Given the description of an element on the screen output the (x, y) to click on. 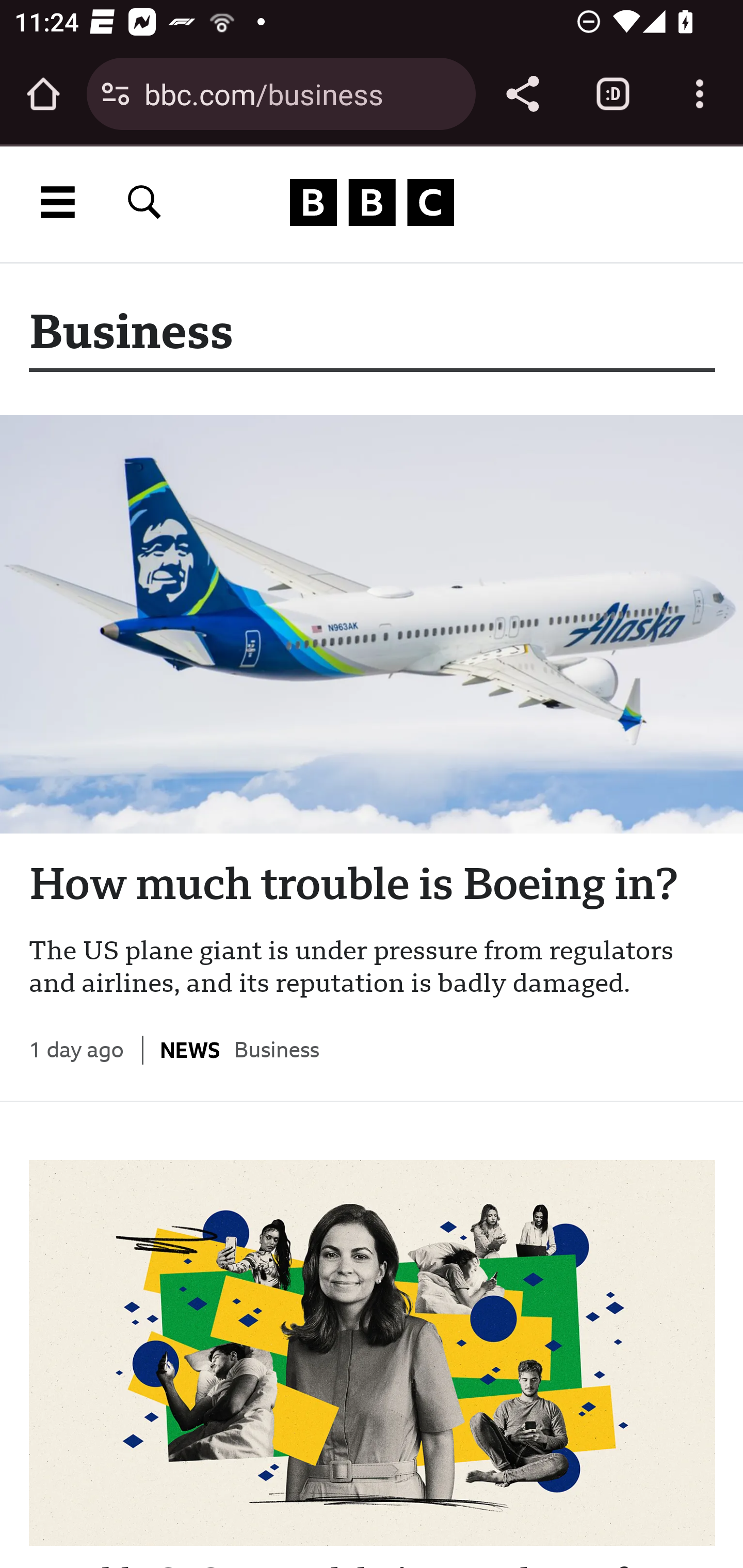
Open the home page (43, 93)
Connection is secure (115, 93)
Share (522, 93)
Switch or close tabs (612, 93)
Customize and control Google Chrome (699, 93)
bbc.com/business (302, 92)
www.bbc (371, 202)
